Given the description of an element on the screen output the (x, y) to click on. 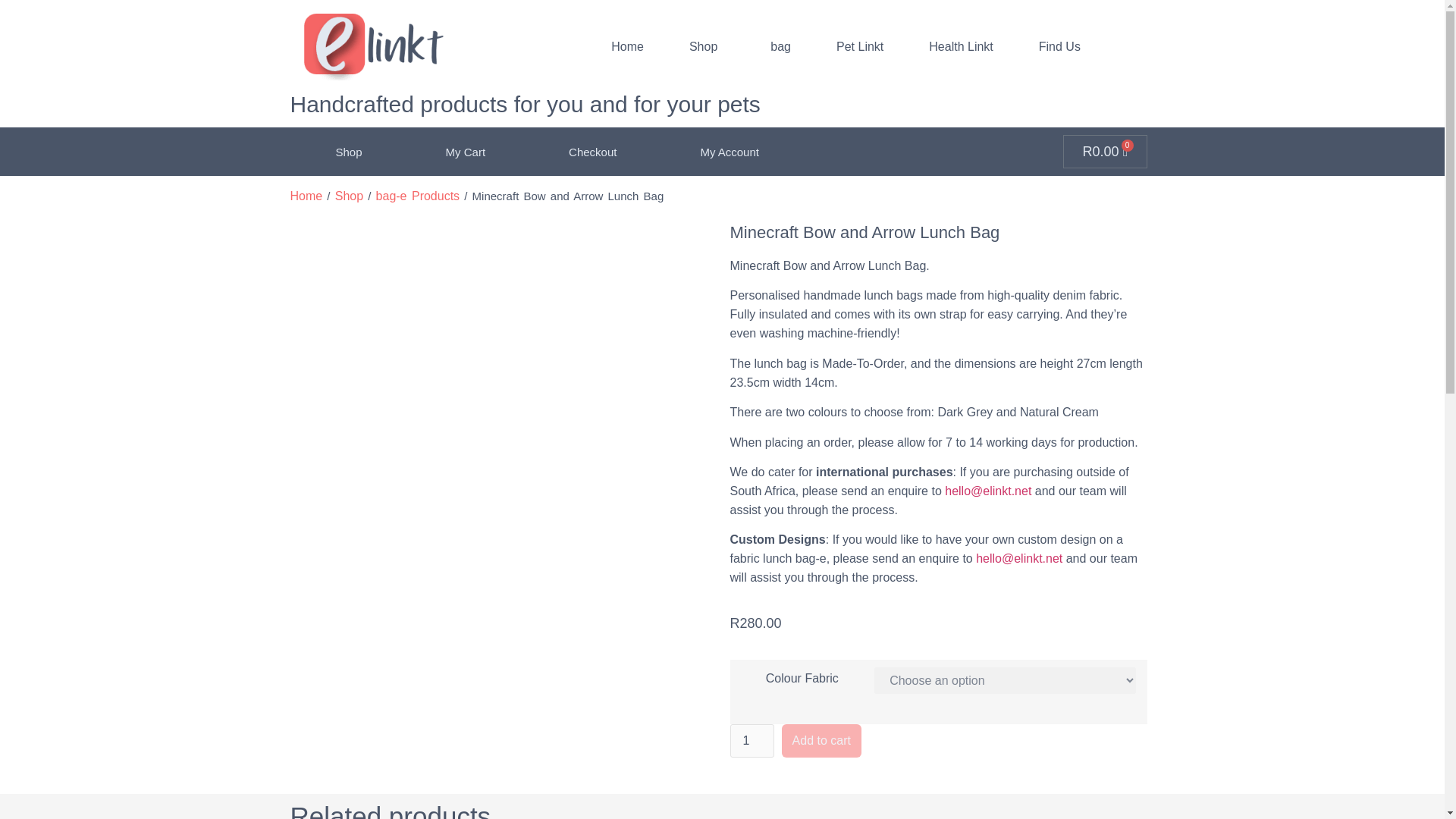
Shop (706, 46)
Shop (347, 151)
Home (305, 195)
My Account (1104, 151)
1 (729, 151)
bag-e Products (751, 740)
Find Us (417, 195)
Home (1059, 46)
bag (627, 46)
